Given the description of an element on the screen output the (x, y) to click on. 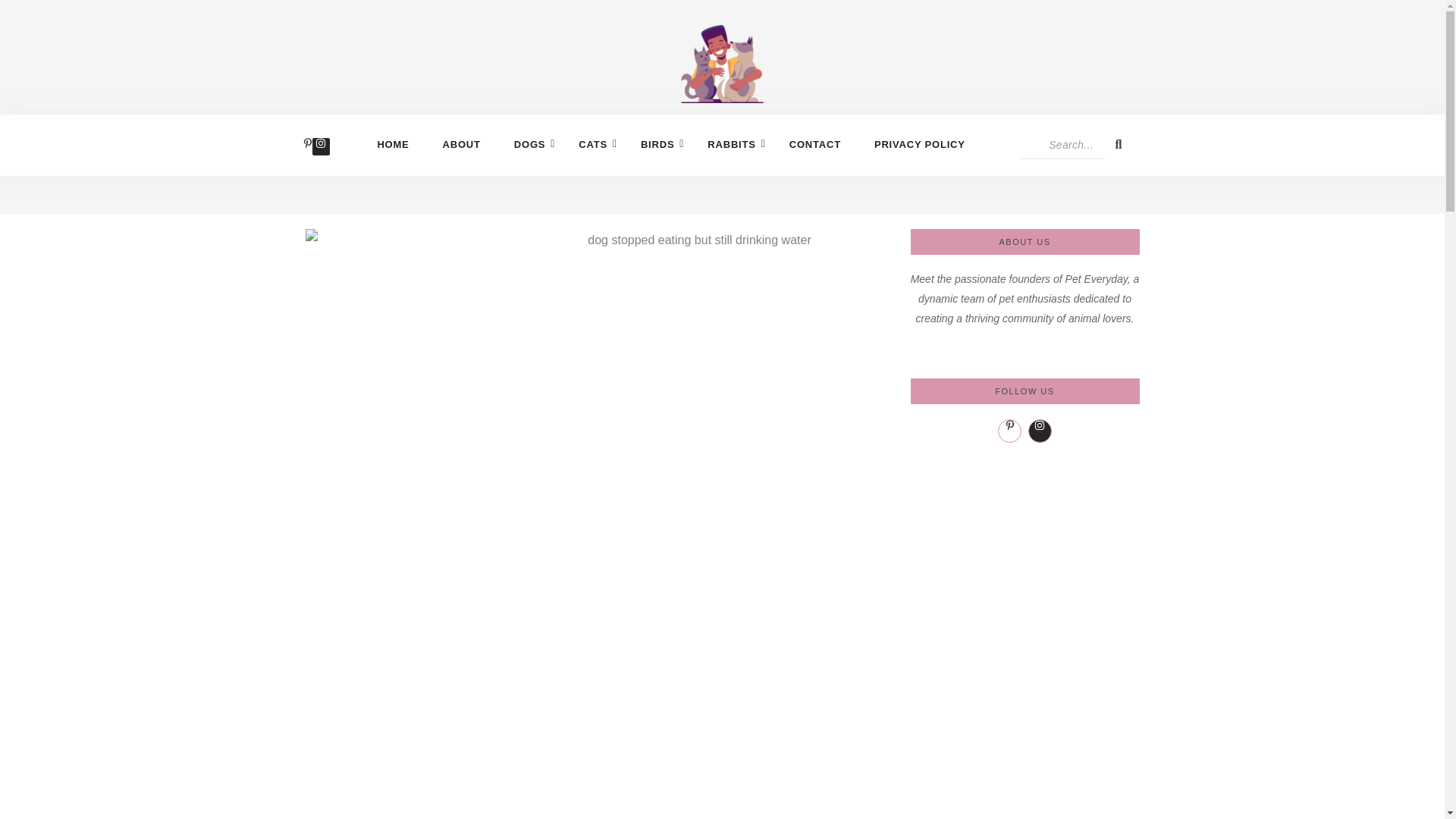
CONTACT (815, 144)
Search (1060, 144)
ABOUT (461, 144)
PRIVACY POLICY (919, 144)
CATS (592, 144)
BIRDS (656, 144)
RABBITS (731, 144)
HOME (392, 144)
DOGS (529, 144)
Pinterest-p (307, 146)
Instagram (321, 146)
